Given the description of an element on the screen output the (x, y) to click on. 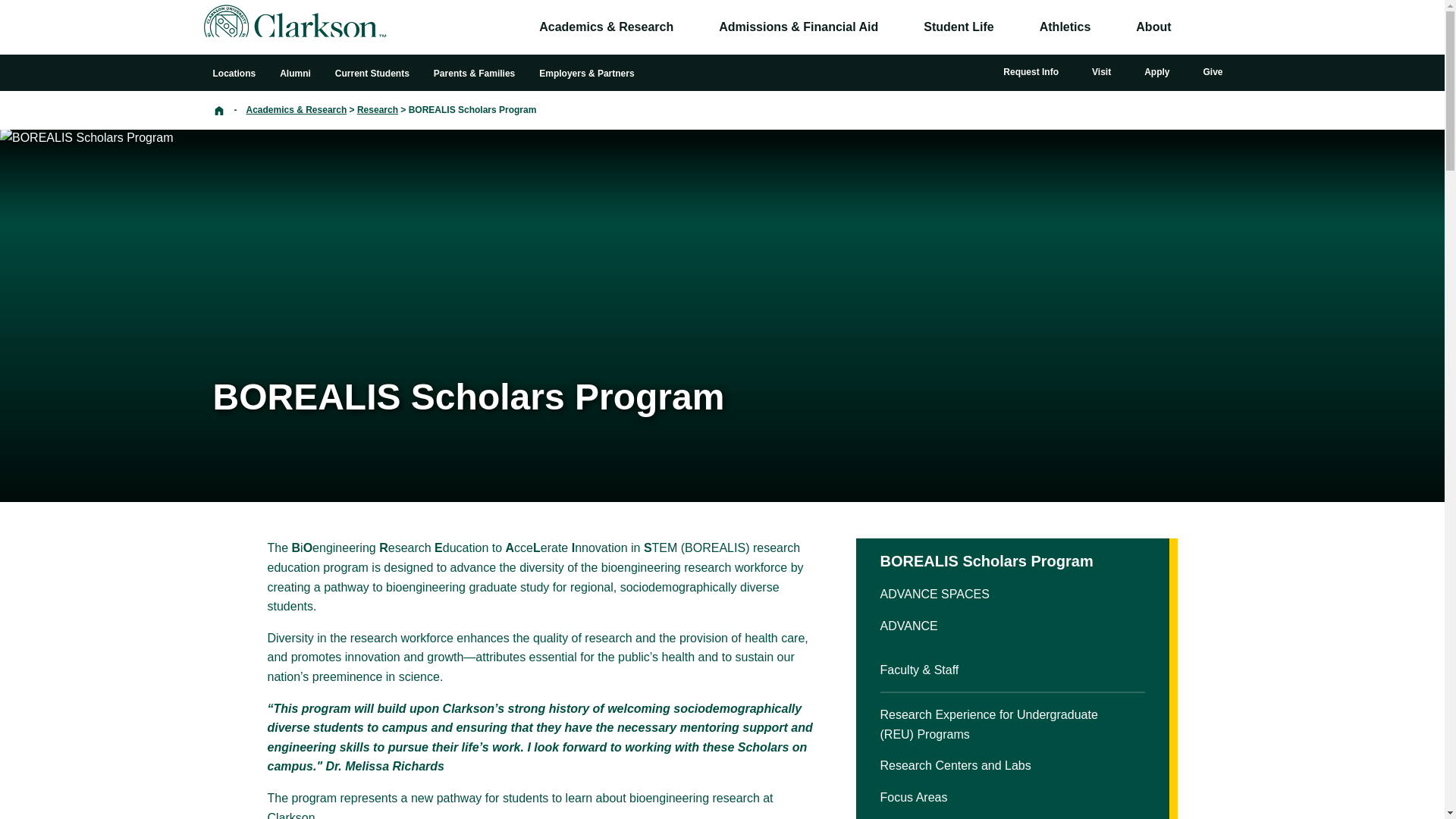
Toggle submenu (1009, 27)
Toggle submenu (1105, 27)
Athletics (1064, 26)
Toggle submenu (1185, 27)
Toggle submenu (687, 27)
Toggle submenu (892, 27)
Student Life (957, 26)
About (1152, 26)
